Given the description of an element on the screen output the (x, y) to click on. 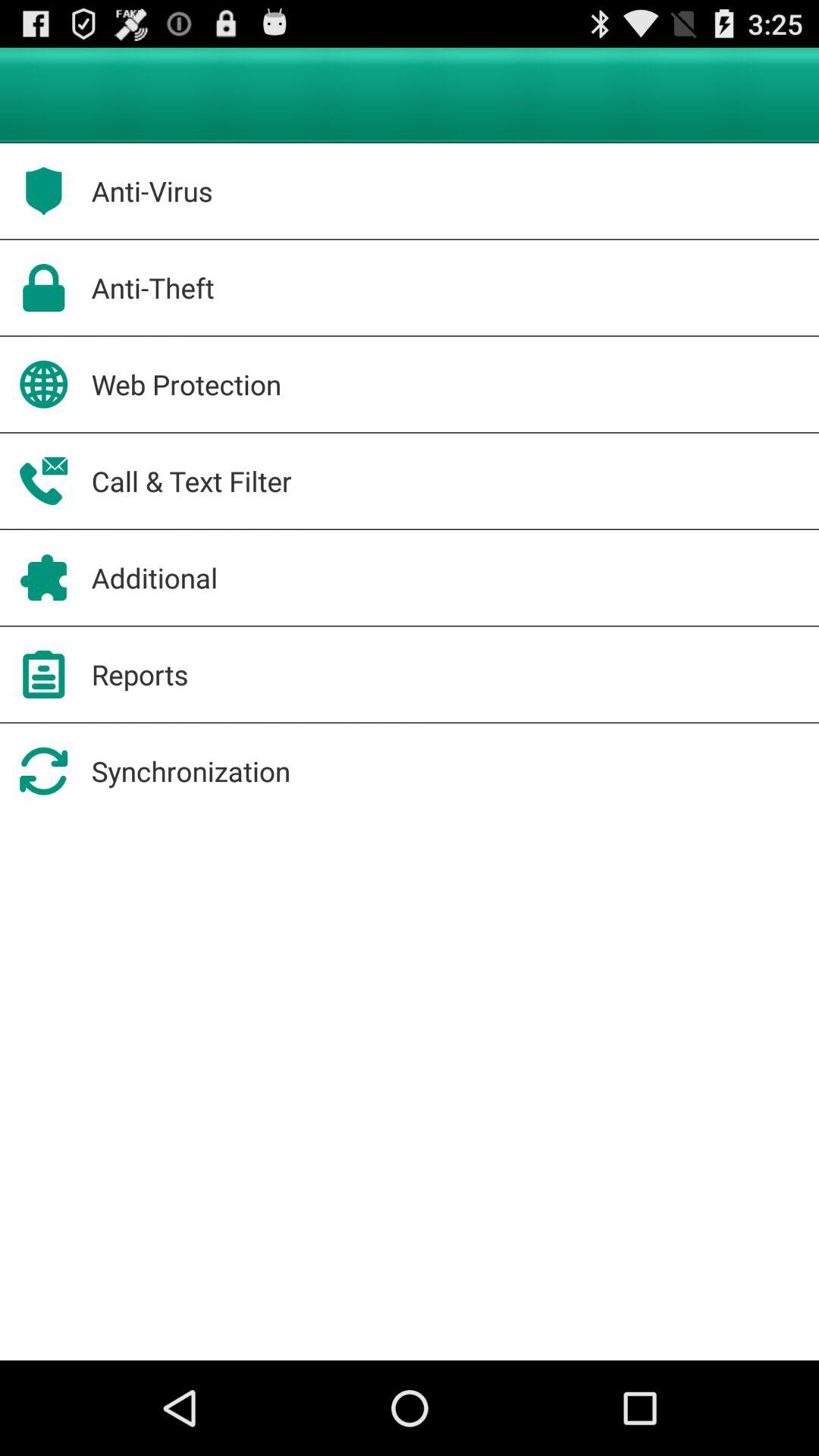
flip until the reports app (139, 674)
